Given the description of an element on the screen output the (x, y) to click on. 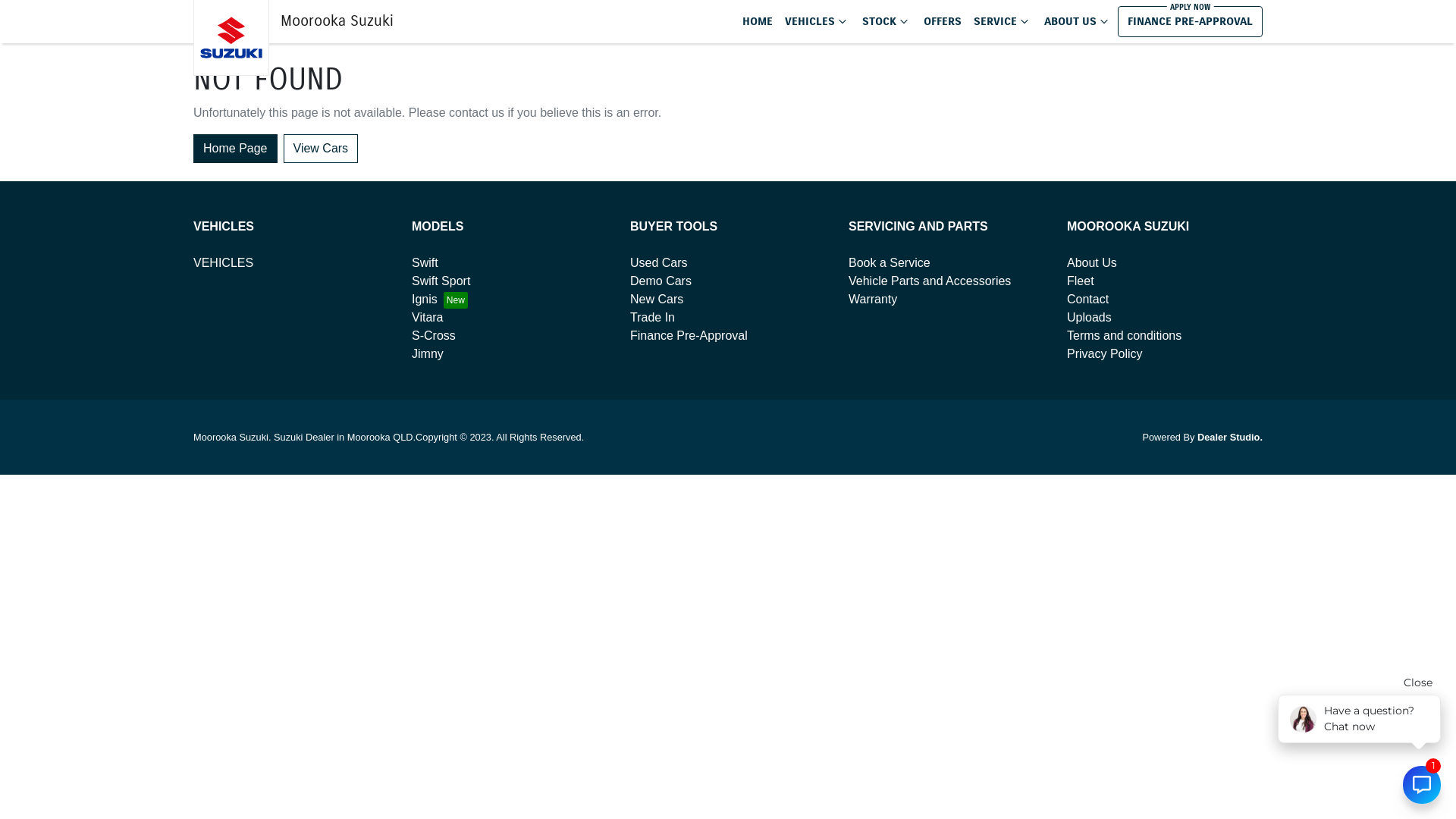
Finance Pre-Approval Element type: text (688, 335)
VEHICLES Element type: text (817, 21)
Uploads Element type: text (1088, 316)
Contact Element type: text (1087, 298)
Swift Element type: text (424, 262)
Warranty Element type: text (872, 298)
New Cars Element type: text (656, 298)
OFFERS Element type: text (942, 21)
About Us Element type: text (1091, 262)
Moorooka Suzuki Element type: text (293, 21)
Privacy Policy Element type: text (1104, 353)
S-Cross Element type: text (433, 335)
ABOUT US Element type: text (1077, 21)
Trade In Element type: text (652, 316)
STOCK Element type: text (886, 21)
Terms and conditions Element type: text (1123, 335)
HOME Element type: text (757, 21)
FINANCE PRE-APPROVAL Element type: text (1189, 21)
Demo Cars Element type: text (660, 280)
VEHICLES Element type: text (223, 262)
Dealer Studio. Element type: text (1229, 436)
Vitara Element type: text (427, 316)
Jimny Element type: text (427, 353)
Used Cars Element type: text (658, 262)
Ignis Element type: text (439, 298)
View Cars Element type: text (320, 147)
Home Page Element type: text (235, 147)
Vehicle Parts and Accessories Element type: text (929, 280)
Fleet Element type: text (1080, 280)
SERVICE Element type: text (1002, 21)
Swift Sport Element type: text (440, 280)
Book a Service Element type: text (889, 262)
